Given the description of an element on the screen output the (x, y) to click on. 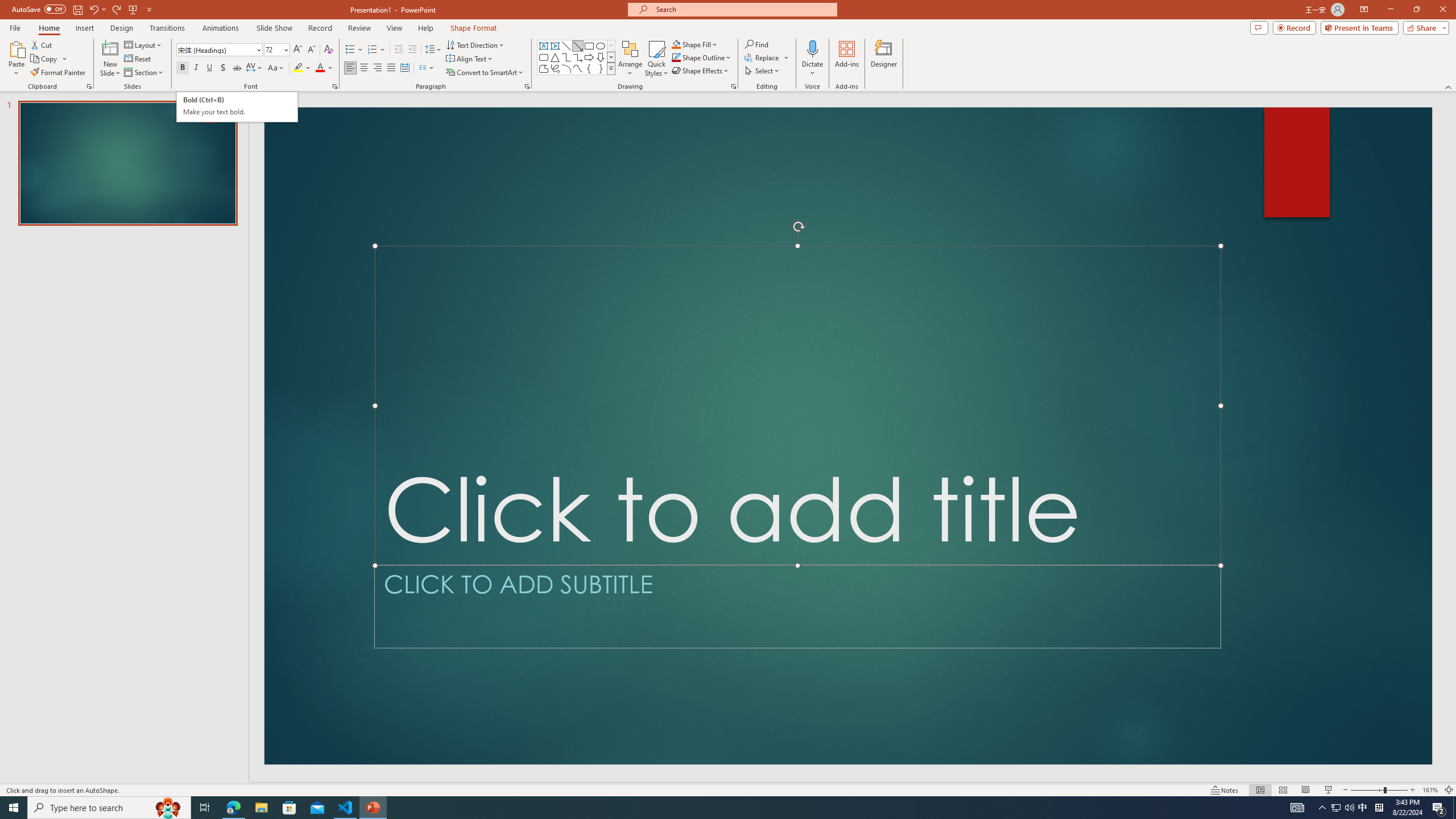
Center (363, 67)
Select (762, 69)
Reset (138, 58)
Title TextBox (797, 405)
Rectangle (589, 45)
Oval (600, 45)
Replace... (767, 56)
Align Right (377, 67)
Underline (209, 67)
Paragraph... (526, 85)
Align Text (470, 58)
